Given the description of an element on the screen output the (x, y) to click on. 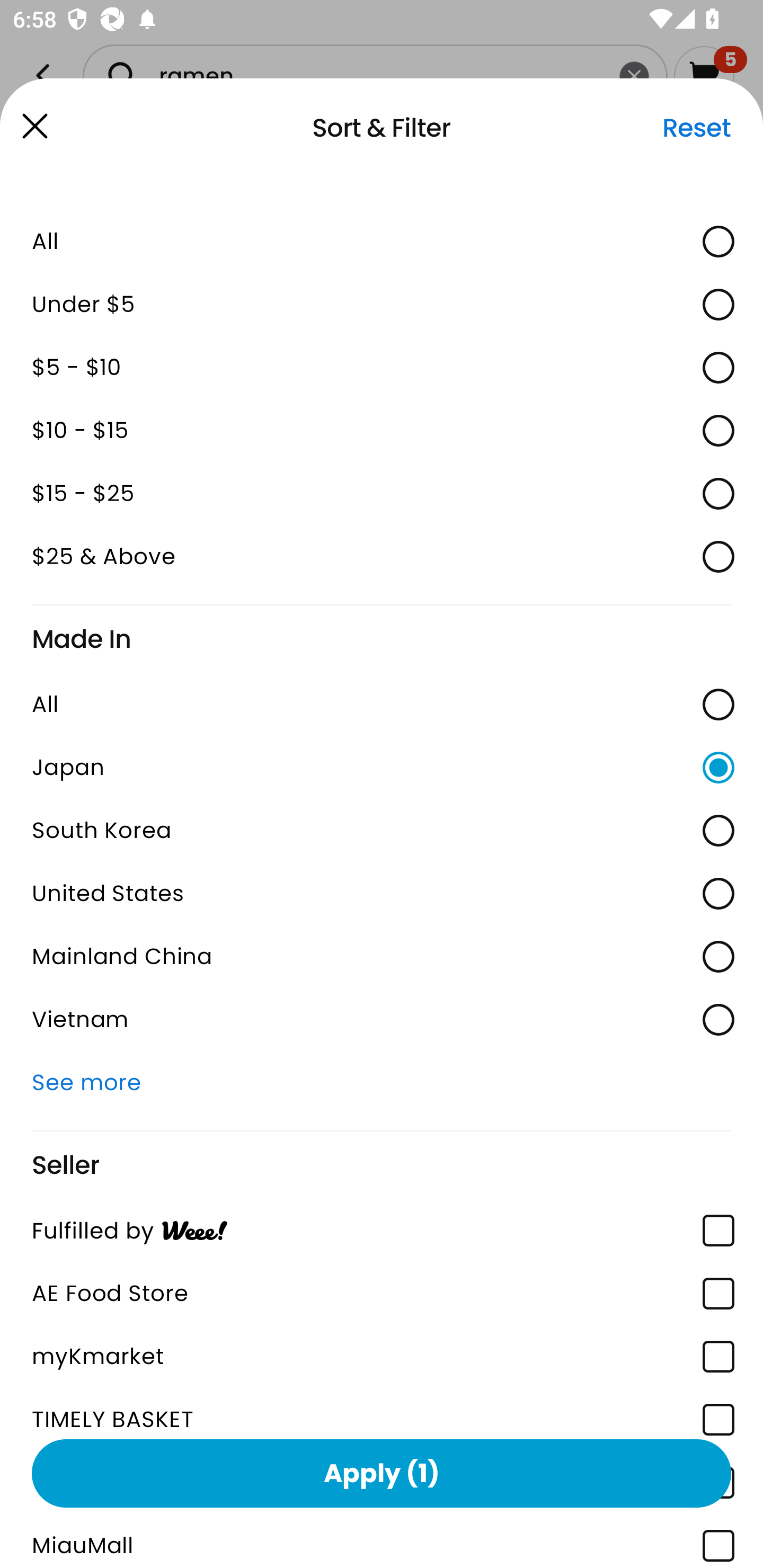
Reset (696, 127)
See more (381, 1081)
Apply (1) (381, 1472)
